Given the description of an element on the screen output the (x, y) to click on. 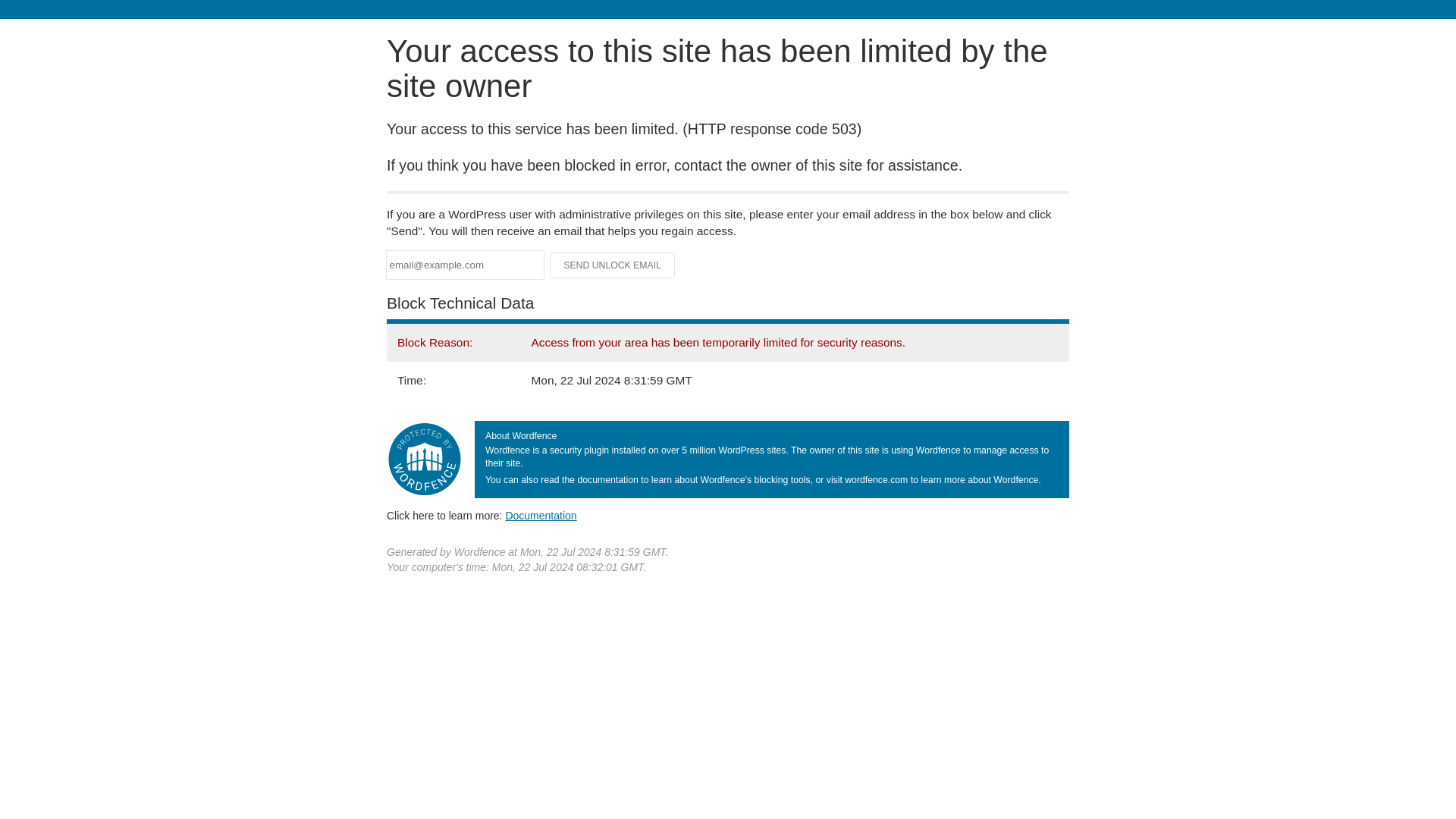
Send Unlock Email (612, 265)
Documentation (540, 515)
Send Unlock Email (612, 265)
